Given the description of an element on the screen output the (x, y) to click on. 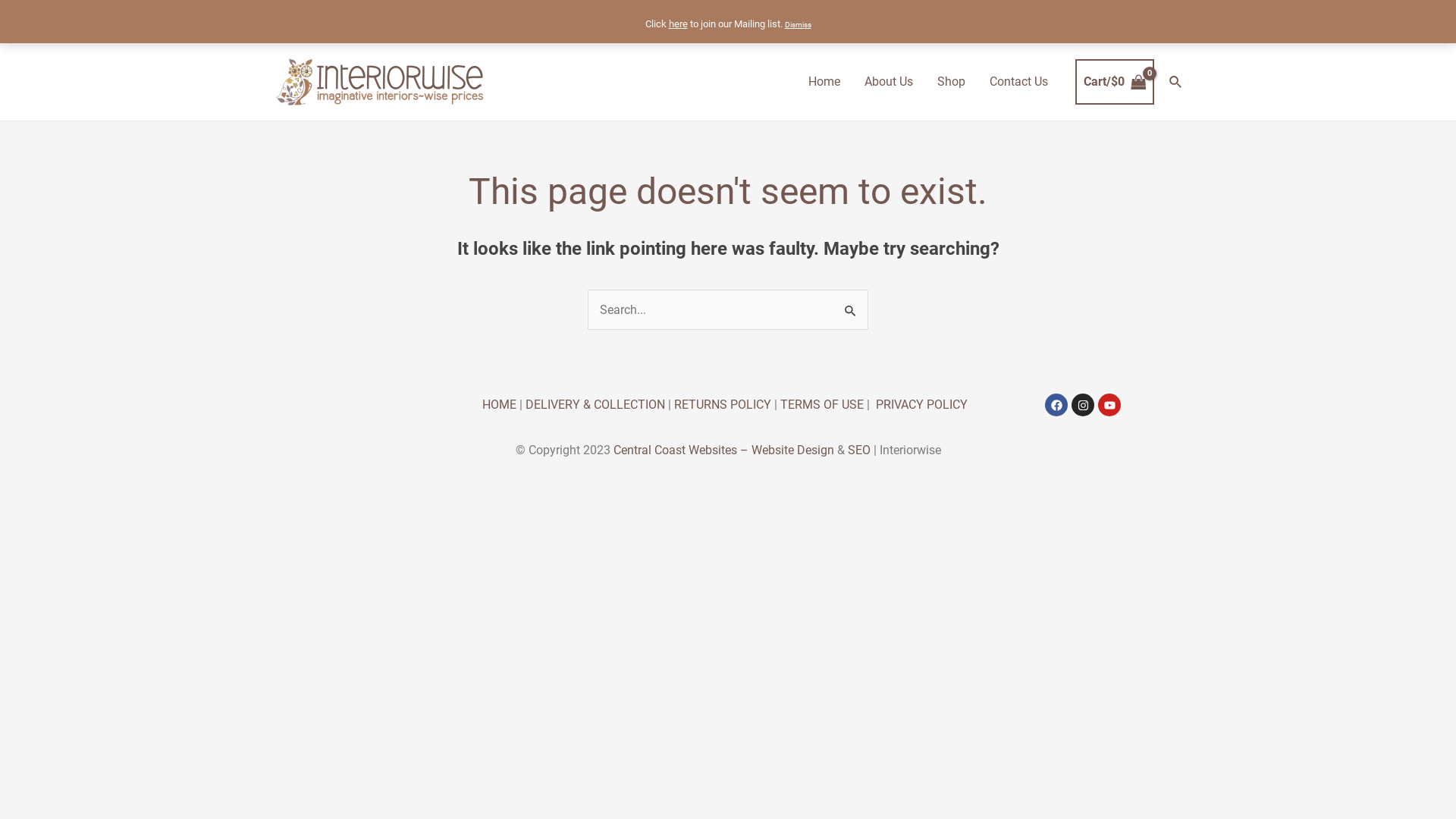
Search Element type: text (1176, 81)
SEO Element type: text (858, 449)
Home Element type: text (824, 81)
TERMS OF USE Element type: text (821, 404)
Dismiss Element type: text (797, 24)
Youtube Element type: text (1109, 404)
Facebook Element type: text (1055, 404)
About Us Element type: text (888, 81)
Shop Element type: text (951, 81)
here Element type: text (677, 23)
Contact Us Element type: text (1018, 81)
Cart/$0 Element type: text (1114, 81)
RETURNS POLICY Element type: text (722, 404)
Instagram Element type: text (1082, 404)
DELIVERY & COLLECTION Element type: text (595, 404)
PRIVACY POLICY Element type: text (921, 404)
HOME Element type: text (499, 404)
Search Element type: text (851, 305)
